Given the description of an element on the screen output the (x, y) to click on. 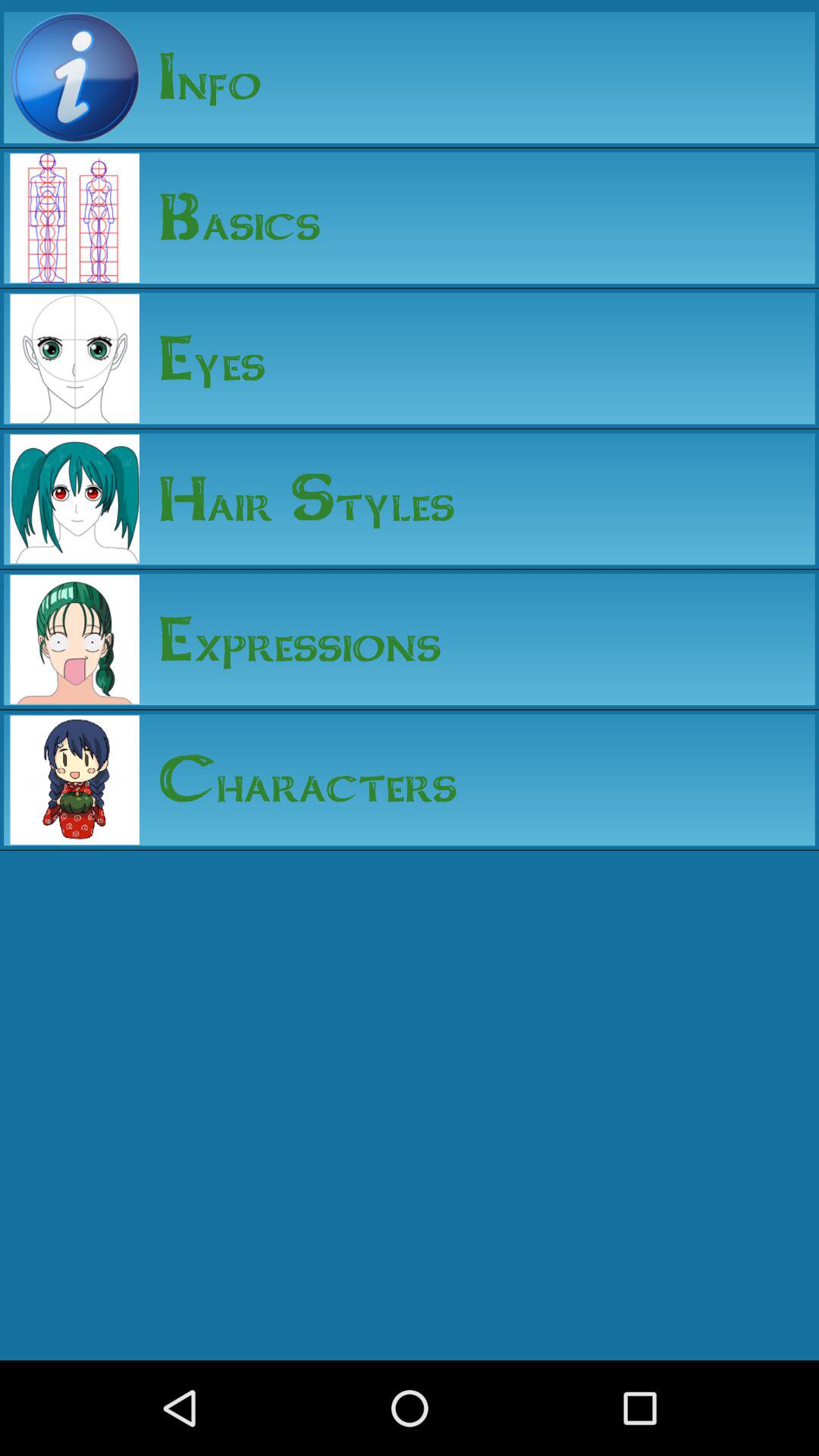
launch the info icon (200, 76)
